Given the description of an element on the screen output the (x, y) to click on. 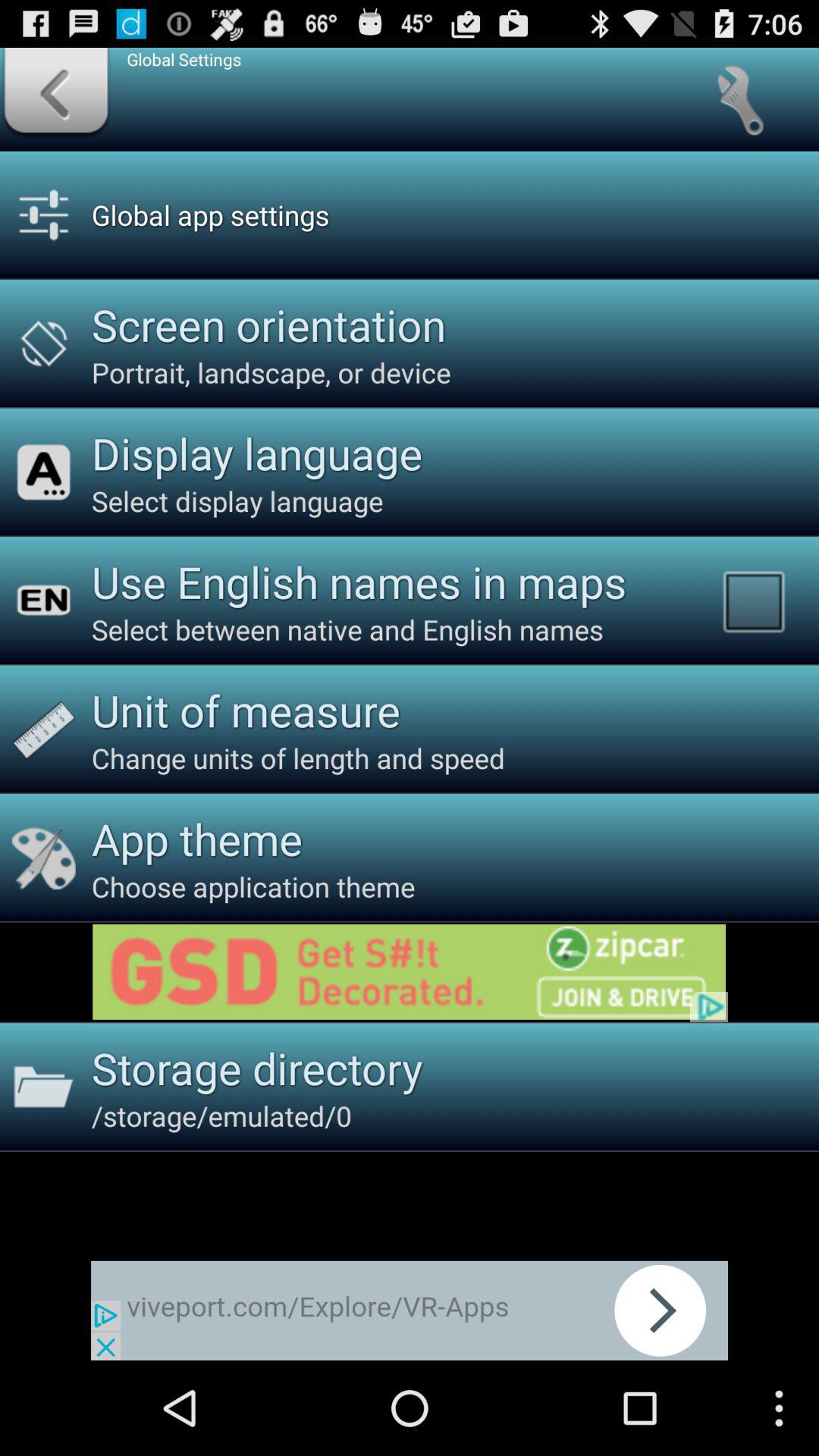
click advertisement (409, 972)
